Given the description of an element on the screen output the (x, y) to click on. 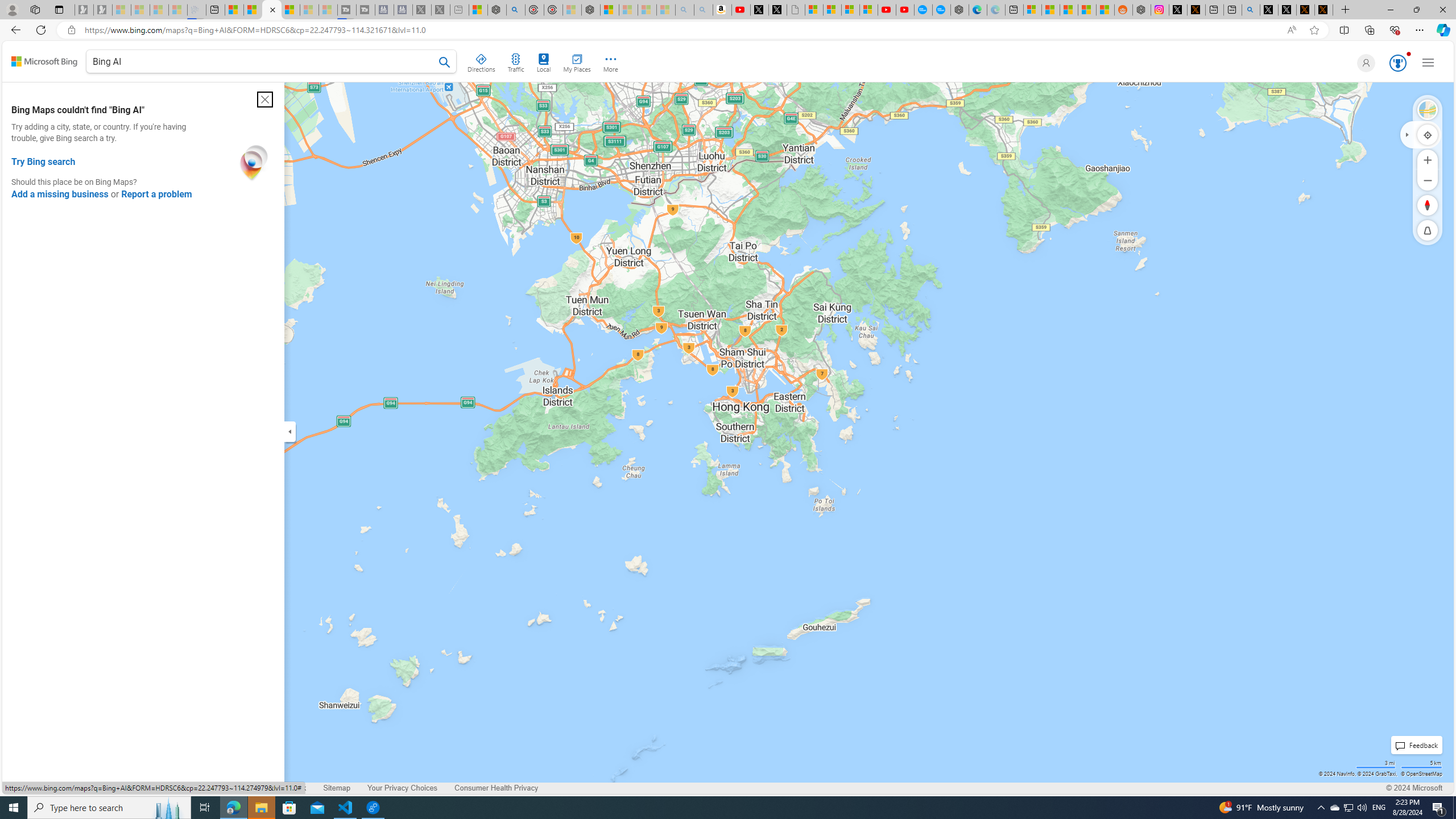
Directions (481, 60)
My Places (576, 60)
About our ads (200, 787)
YouTube Kids - An App Created for Kids to Explore Content (904, 9)
Shanghai, China Weather trends | Microsoft Weather (1105, 9)
Legal (103, 787)
